Given the description of an element on the screen output the (x, y) to click on. 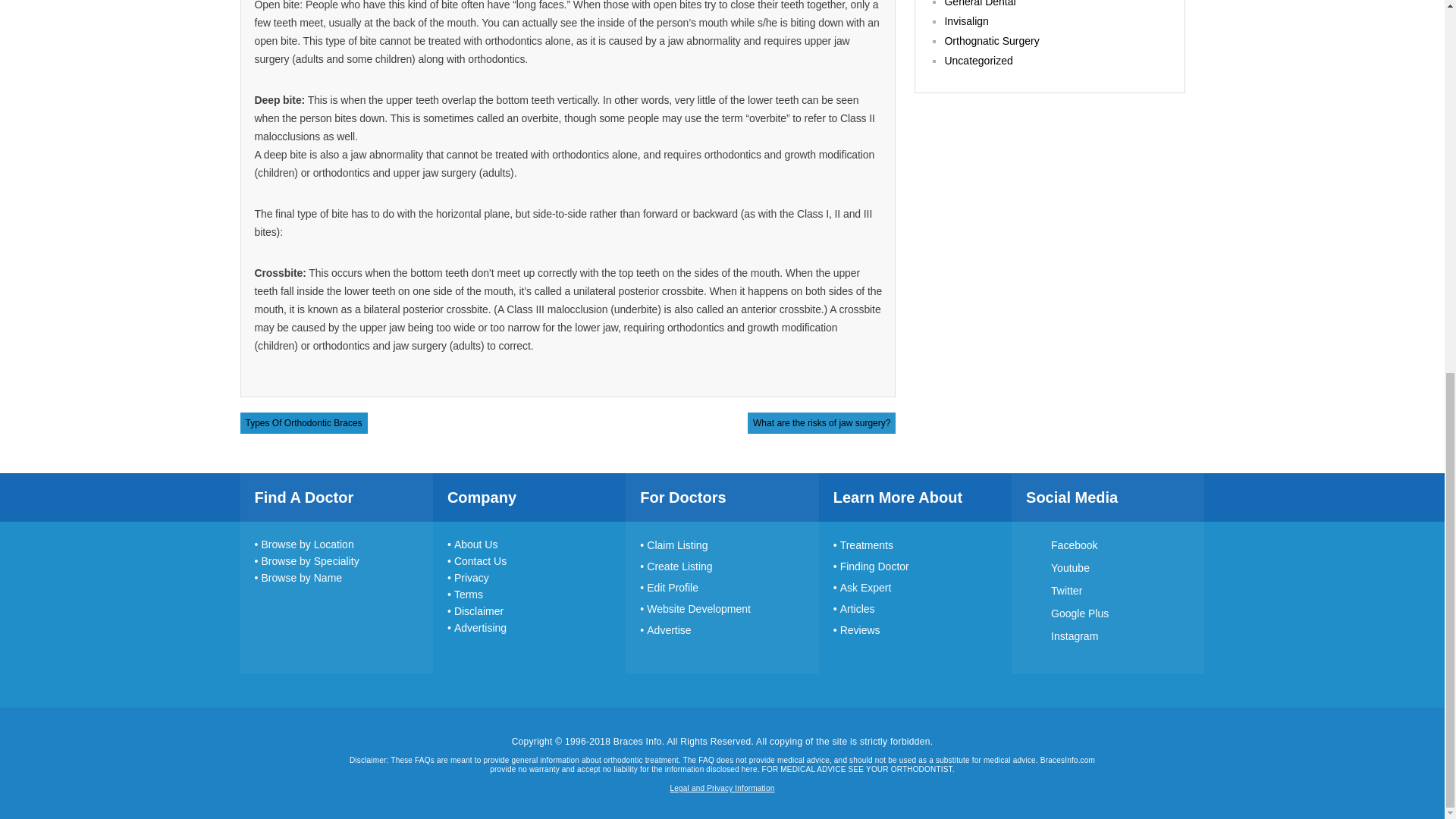
What are the risks of jaw surgery? (820, 422)
Contact Us (476, 561)
Disclaimer (474, 611)
Uncategorized (977, 60)
Browse by Location (303, 544)
Website Development (695, 608)
Advertising (476, 627)
Privacy (467, 577)
Edit Profile (669, 587)
Browse by Speciality (306, 561)
Terms (464, 594)
Browse by Name (298, 577)
General Dental (978, 3)
Orthognatic Surgery (991, 40)
Create Listing (675, 566)
